Given the description of an element on the screen output the (x, y) to click on. 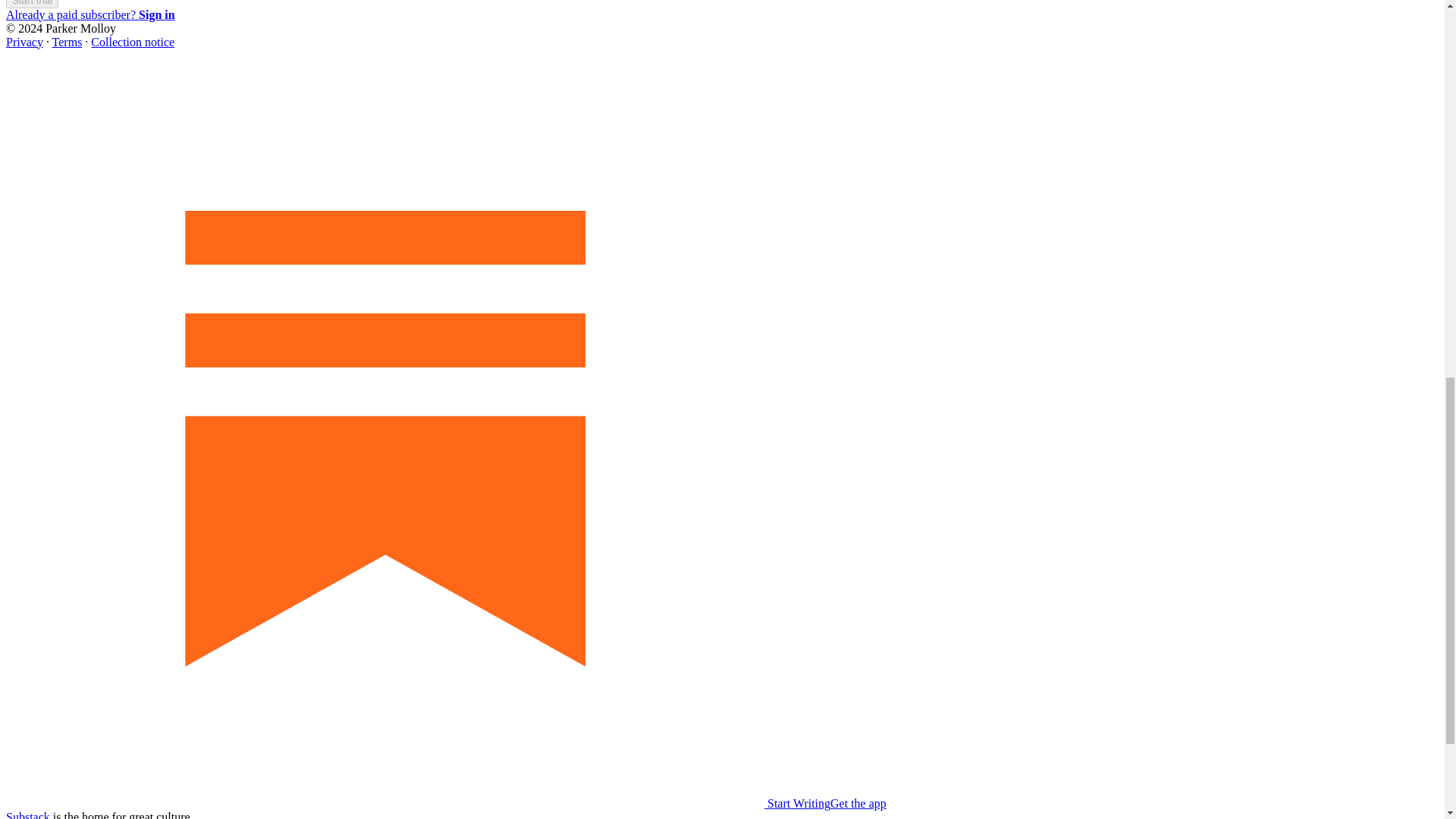
Already a paid subscriber? Sign in (89, 14)
Collection notice (132, 42)
Start trial (31, 2)
Start trial (31, 4)
Start Writing (417, 802)
Get the app (857, 802)
Terms (67, 42)
Privacy (24, 42)
Substack (27, 814)
